Given the description of an element on the screen output the (x, y) to click on. 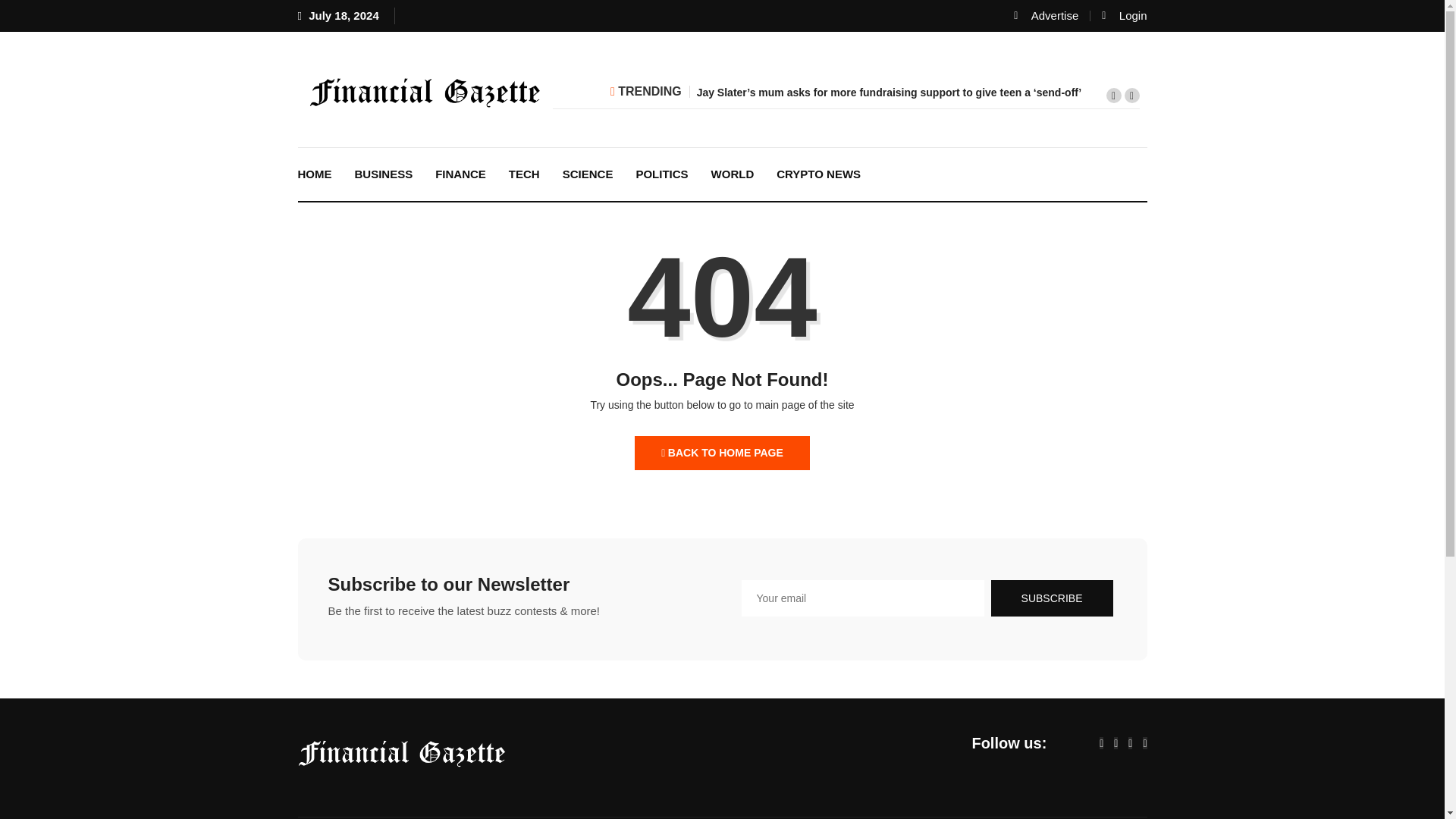
BUSINESS (382, 174)
Advertise (1045, 15)
FINANCE (460, 174)
BACK TO HOME PAGE (721, 452)
Subscribe (1052, 597)
CRYPTO NEWS (818, 174)
HOME (314, 174)
WORLD (732, 174)
POLITICS (661, 174)
TECH (524, 174)
SCIENCE (587, 174)
Login (1124, 15)
